Given the description of an element on the screen output the (x, y) to click on. 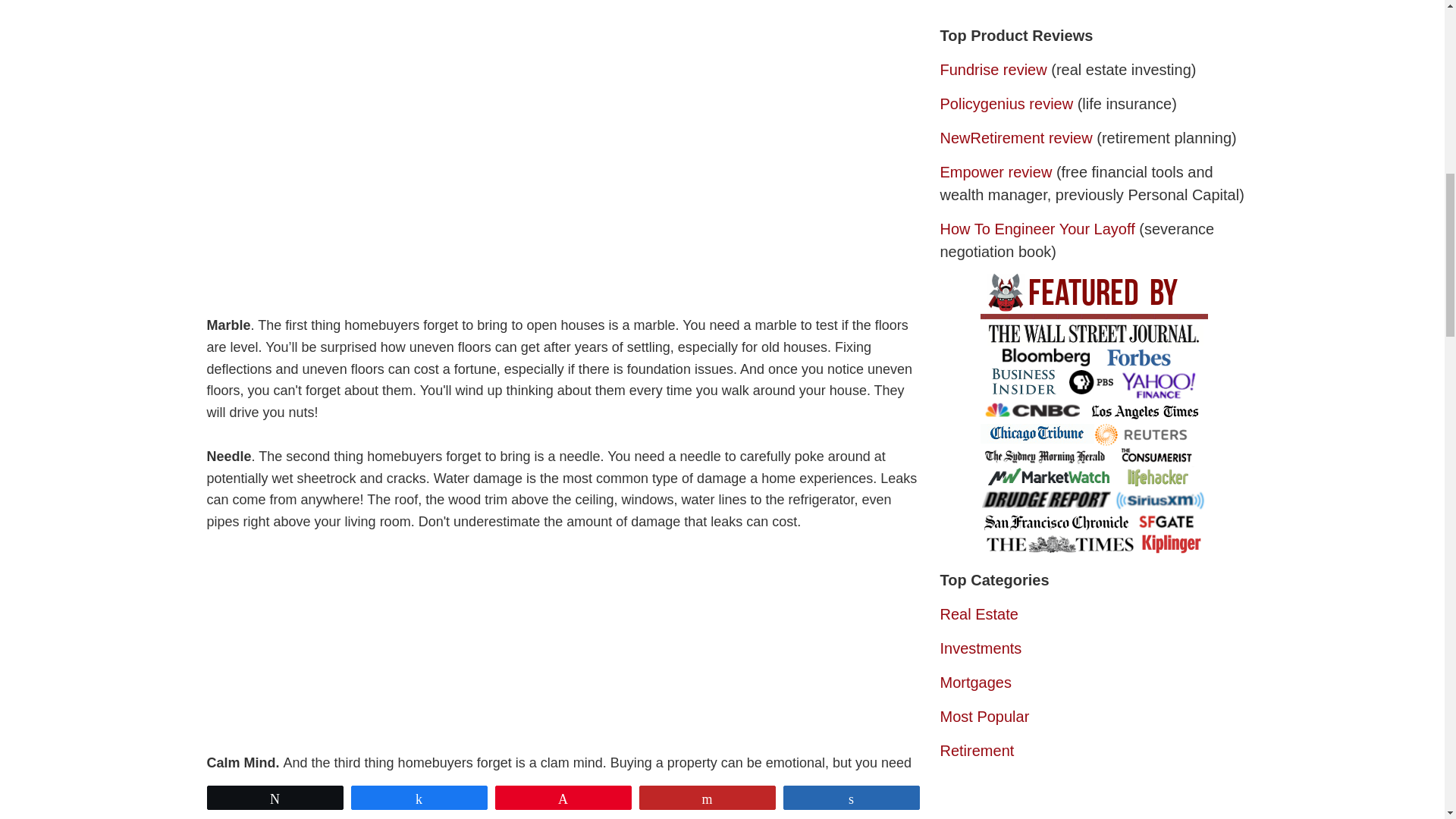
Fundrise review (993, 69)
